Given the description of an element on the screen output the (x, y) to click on. 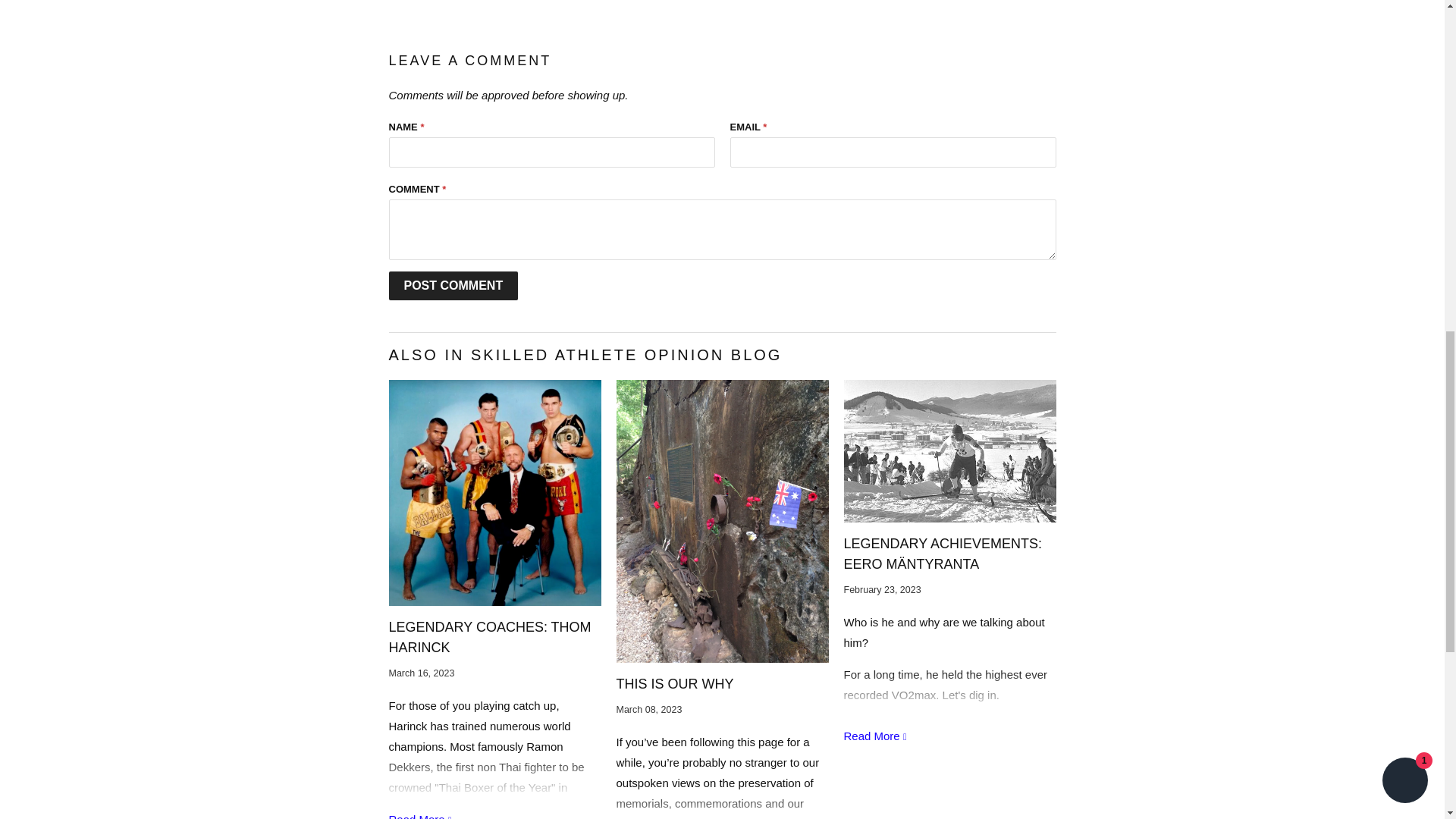
LEGENDARY COACHES: Thom Harinck (489, 637)
LEGENDARY COACHES: Thom Harinck (493, 493)
Post comment (453, 285)
LEGENDARY COACHES: Thom Harinck (420, 816)
